Given the description of an element on the screen output the (x, y) to click on. 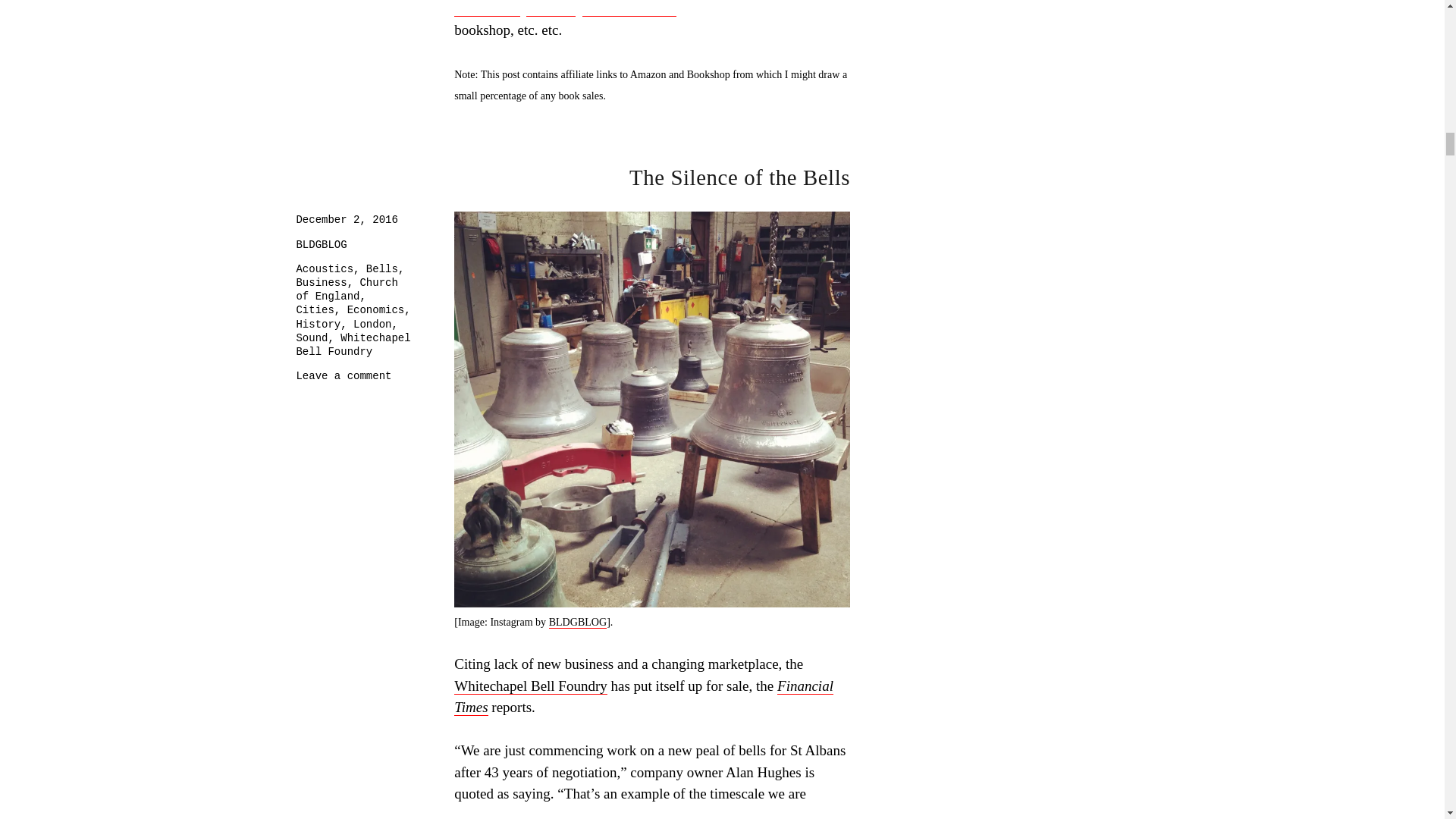
Indiebound (486, 8)
Amazon (550, 8)
